Given the description of an element on the screen output the (x, y) to click on. 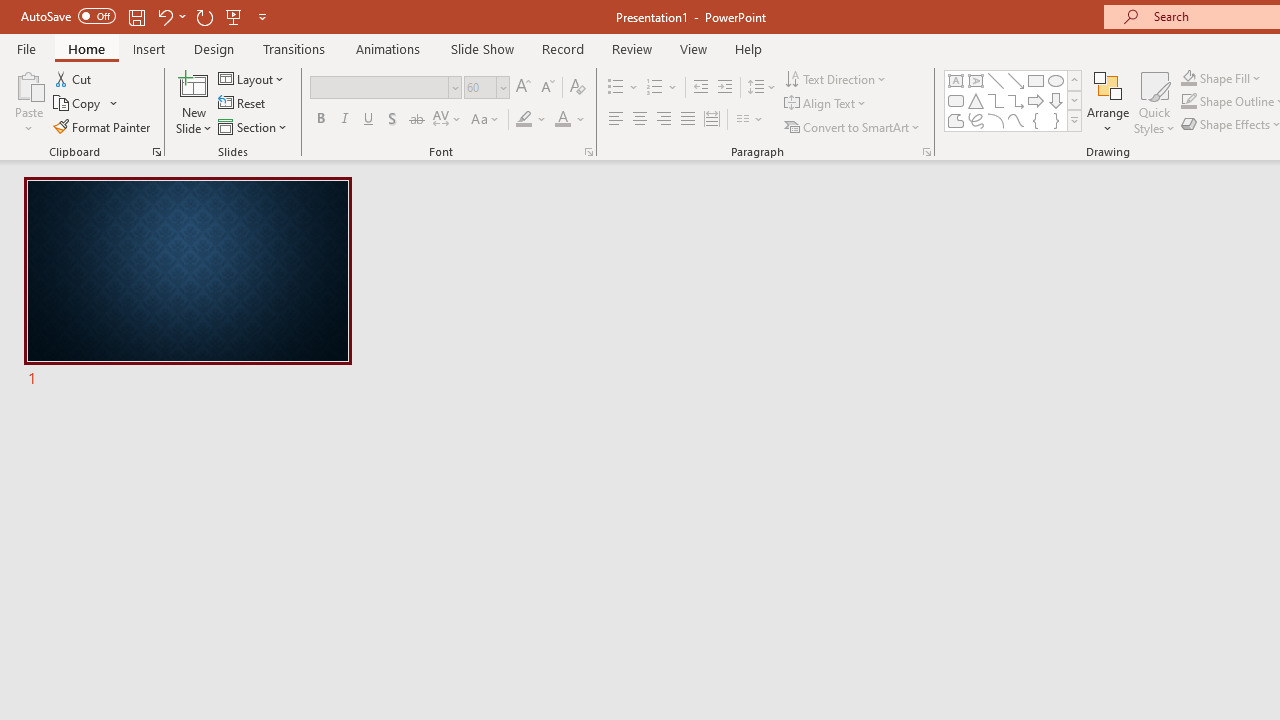
Freeform: Shape (955, 120)
Underline (369, 119)
Shape Fill Orange, Accent 2 (1188, 78)
Convert to SmartArt (853, 126)
Text Direction (836, 78)
Strikethrough (416, 119)
Curve (1016, 120)
Shape Outline Blue, Accent 1 (1188, 101)
Center (639, 119)
